Given the description of an element on the screen output the (x, y) to click on. 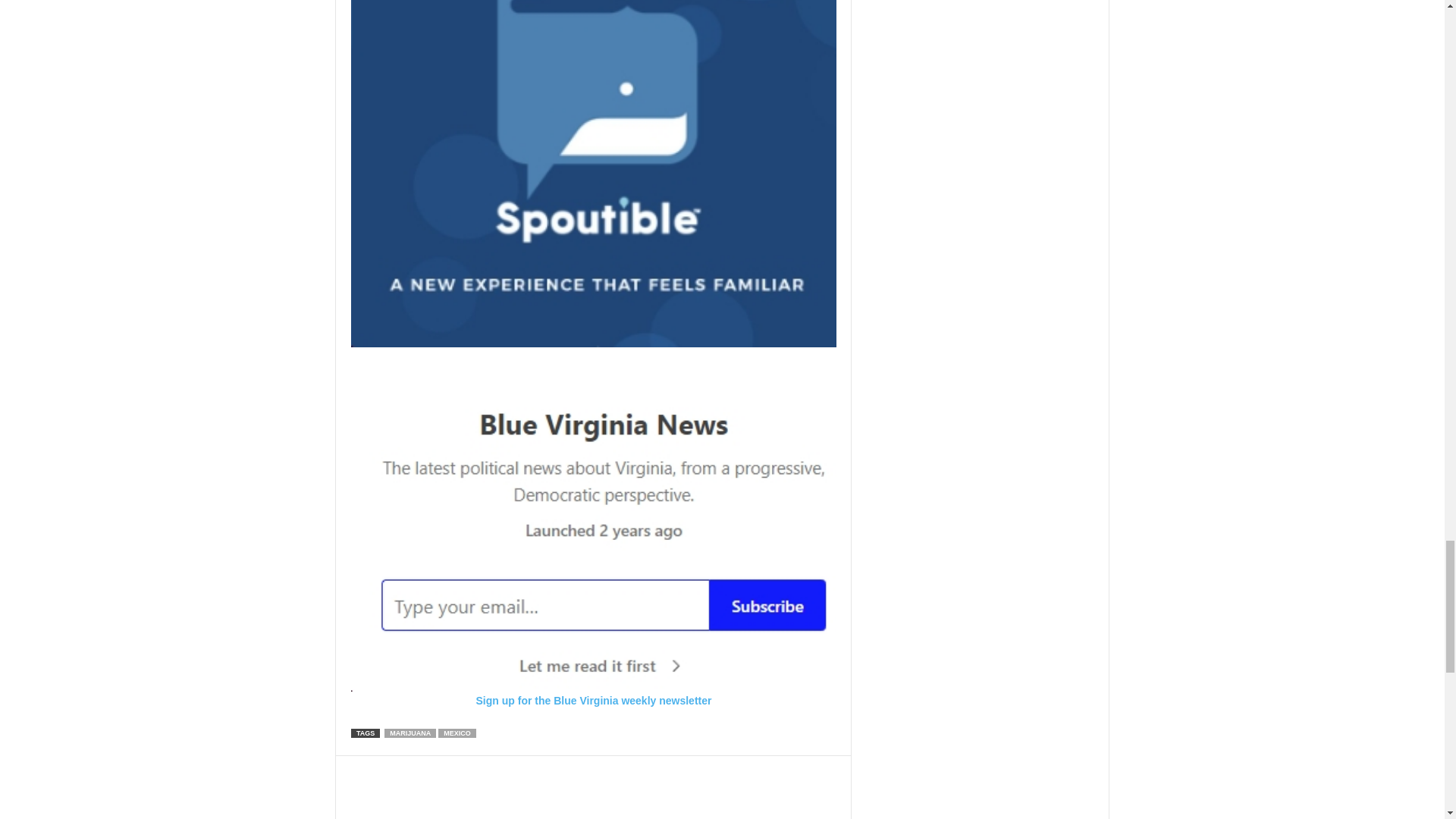
MARIJUANA (409, 732)
MEXICO (457, 732)
